Given the description of an element on the screen output the (x, y) to click on. 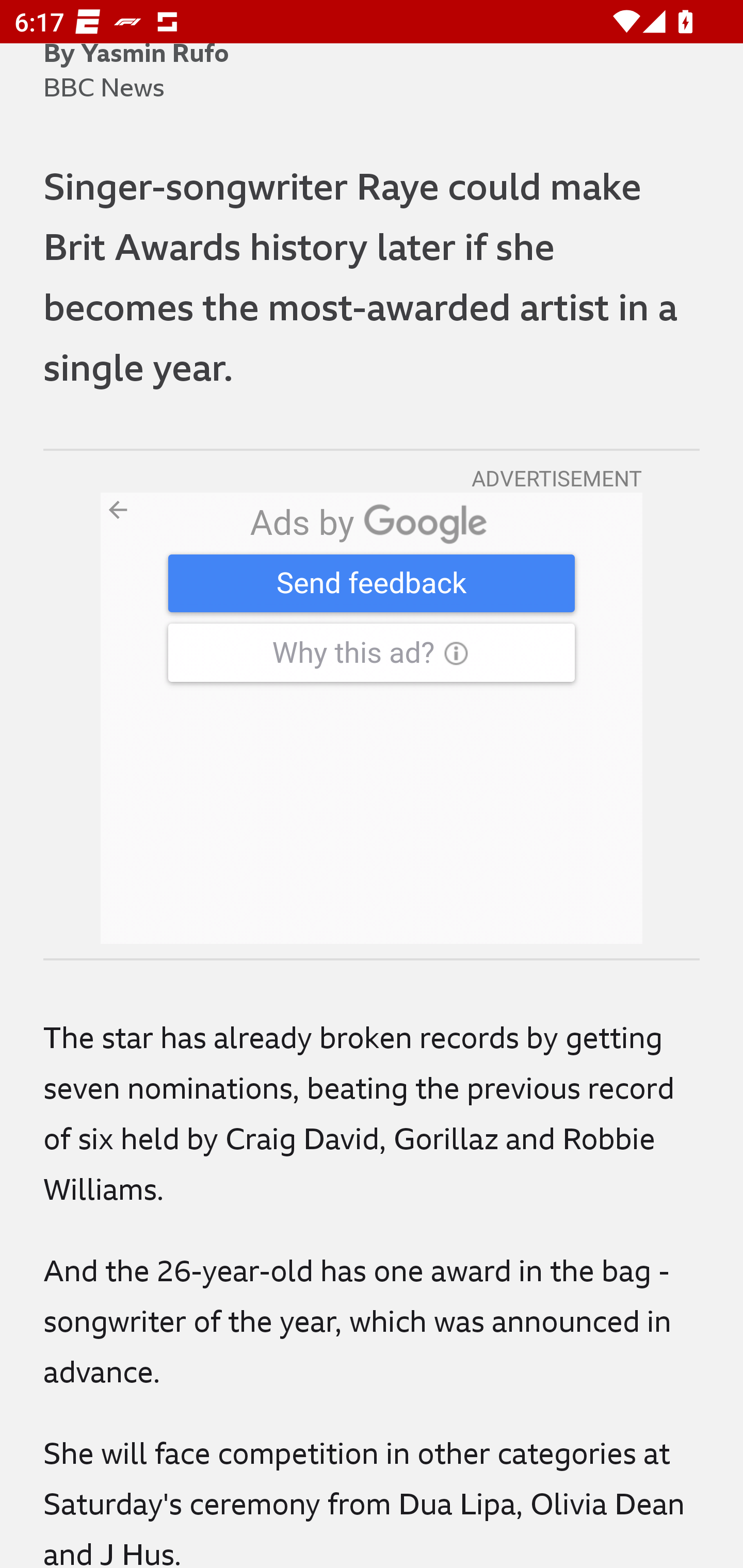
Advertisement (371, 717)
